Given the description of an element on the screen output the (x, y) to click on. 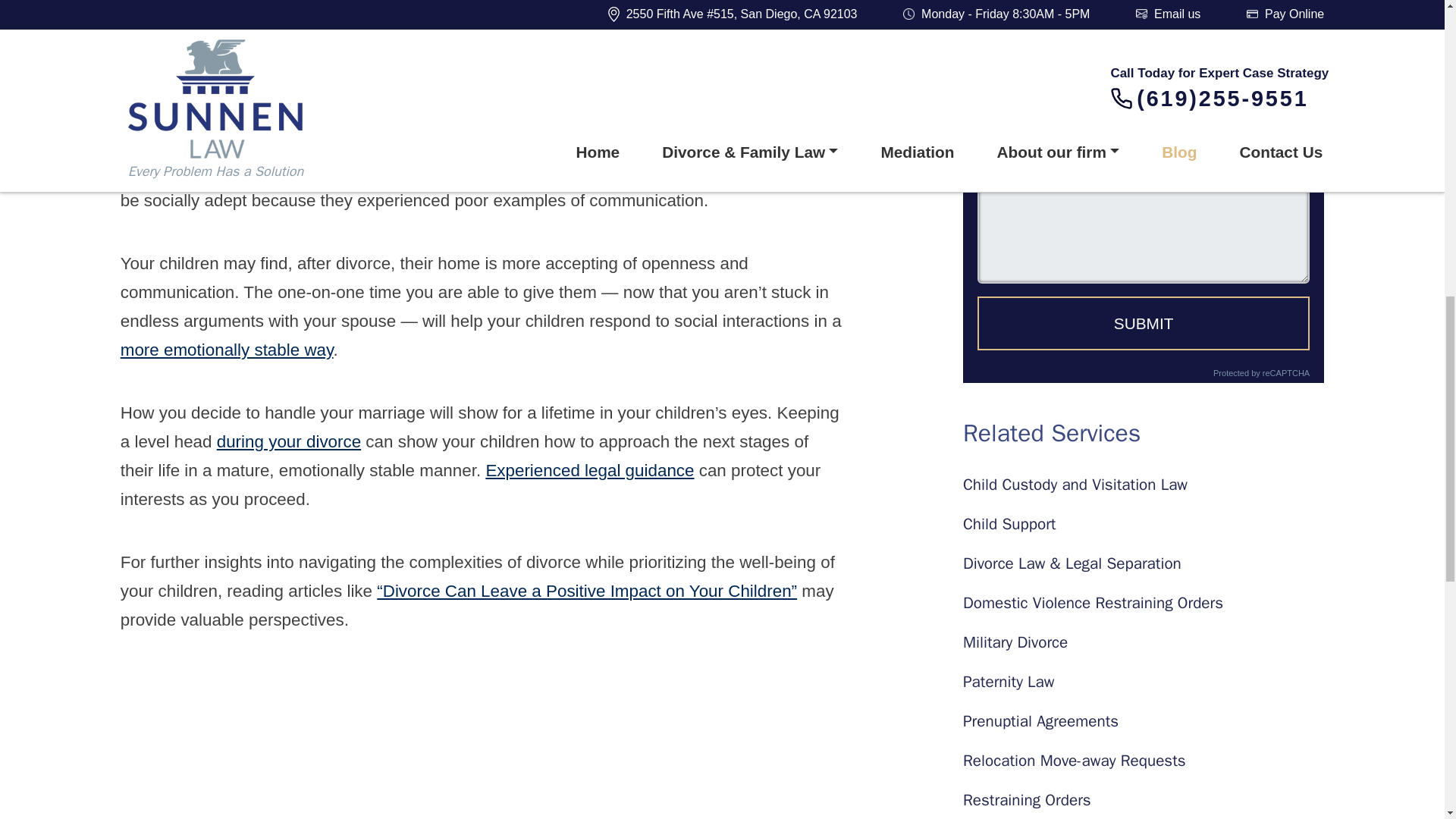
Military Divorce (1142, 642)
Child Custody and Visitation Law (1142, 484)
Paternity Law (1142, 681)
Domestic Violence Restraining Orders (1142, 603)
Restraining Orders (1142, 800)
more emotionally stable way (226, 349)
Child Support (1142, 524)
Child Custody and Visitation Law (1142, 484)
SUBMIT (1142, 322)
Military Divorce (1142, 642)
